Given the description of an element on the screen output the (x, y) to click on. 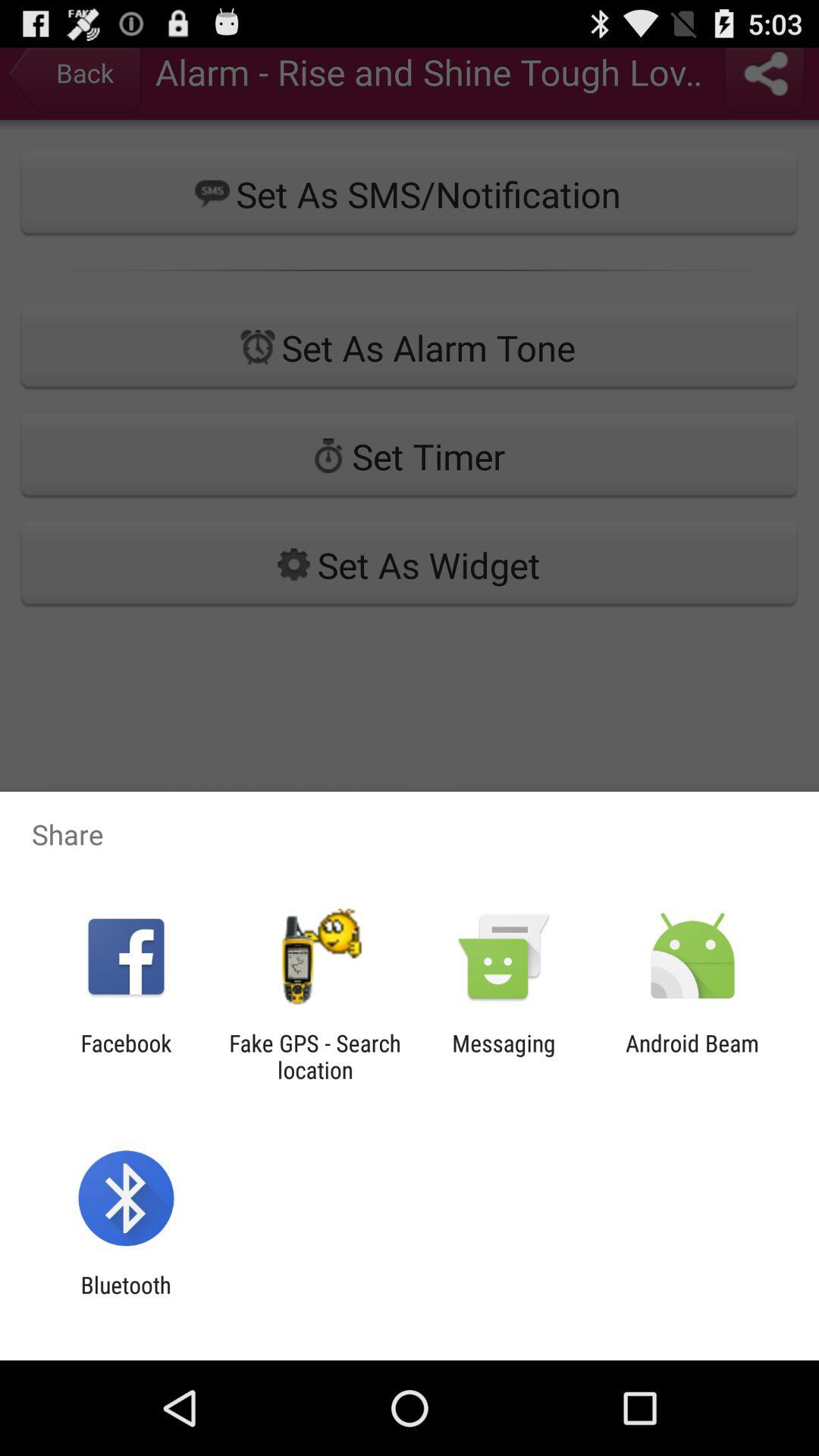
click the icon to the left of fake gps search (125, 1056)
